Given the description of an element on the screen output the (x, y) to click on. 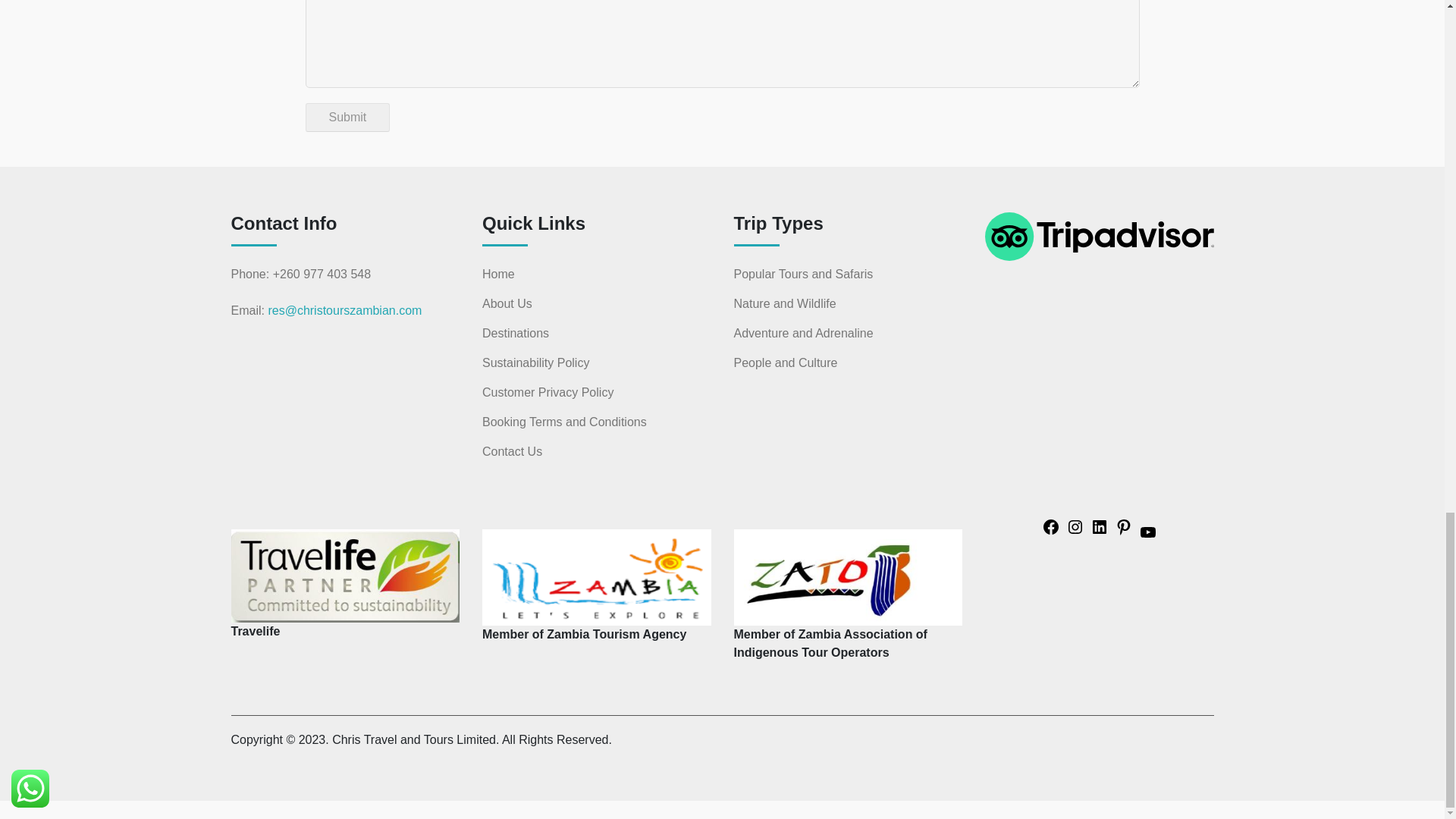
Contact Us (511, 452)
Submit (347, 117)
Home (498, 274)
Customer Privacy Policy (546, 393)
Sustainability Policy (535, 362)
Destinations (514, 333)
About Us (506, 303)
Booking Terms and Conditions (563, 422)
